Given the description of an element on the screen output the (x, y) to click on. 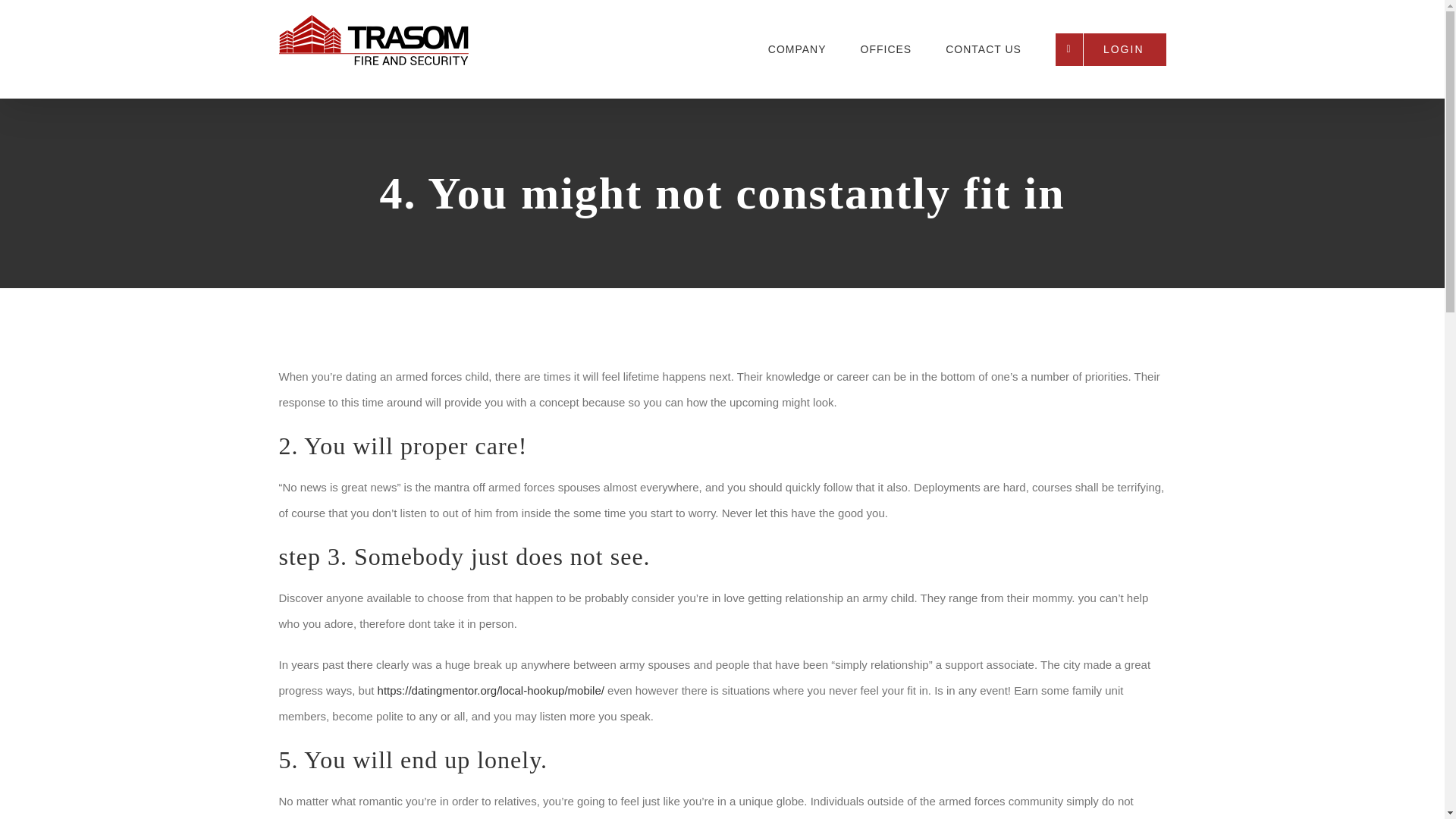
LOGIN (1110, 49)
